Given the description of an element on the screen output the (x, y) to click on. 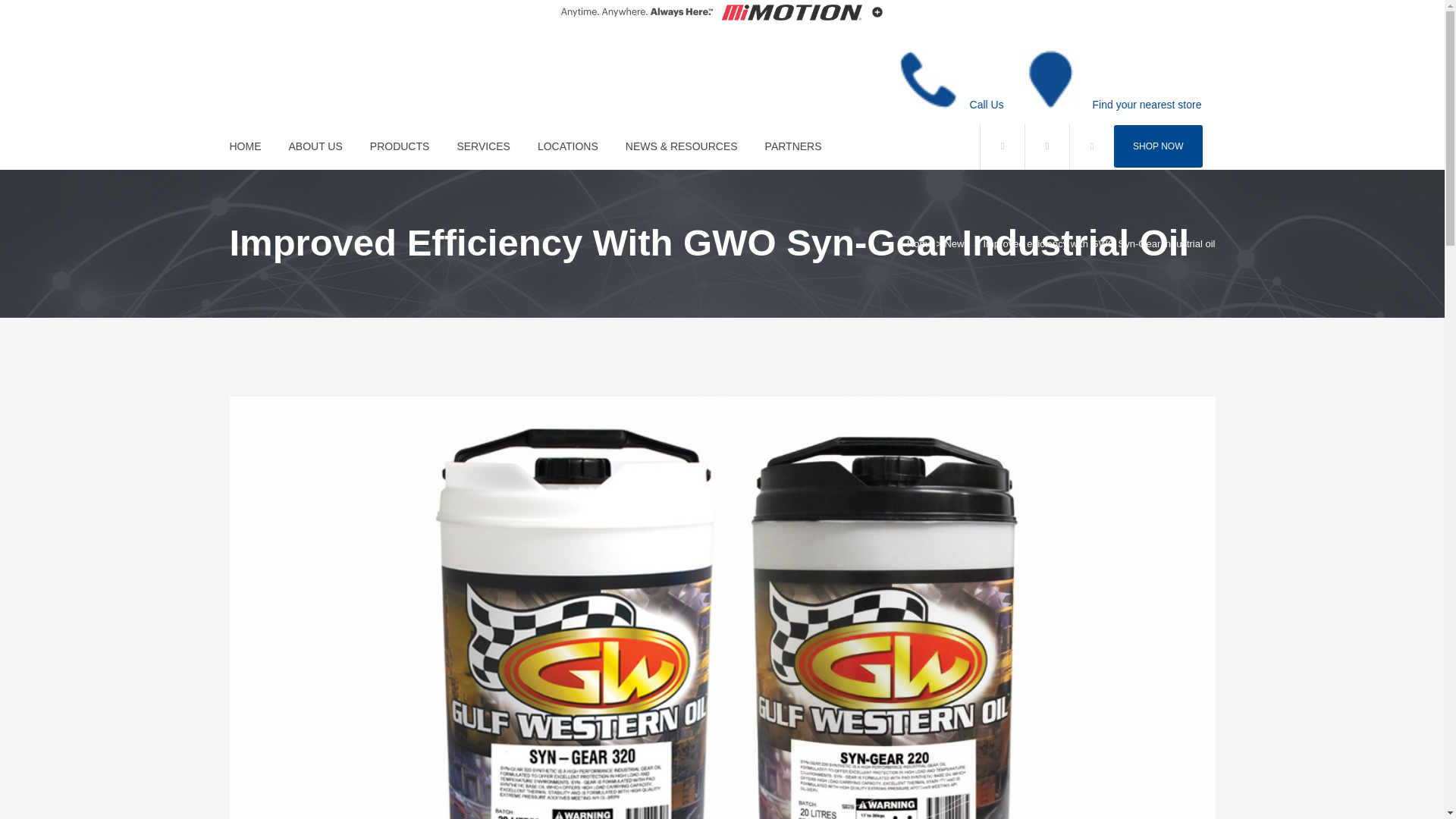
Find your nearest store (1147, 104)
Call Us (986, 104)
PRODUCTS (400, 145)
HOME (251, 145)
ABOUT US (315, 145)
